Given the description of an element on the screen output the (x, y) to click on. 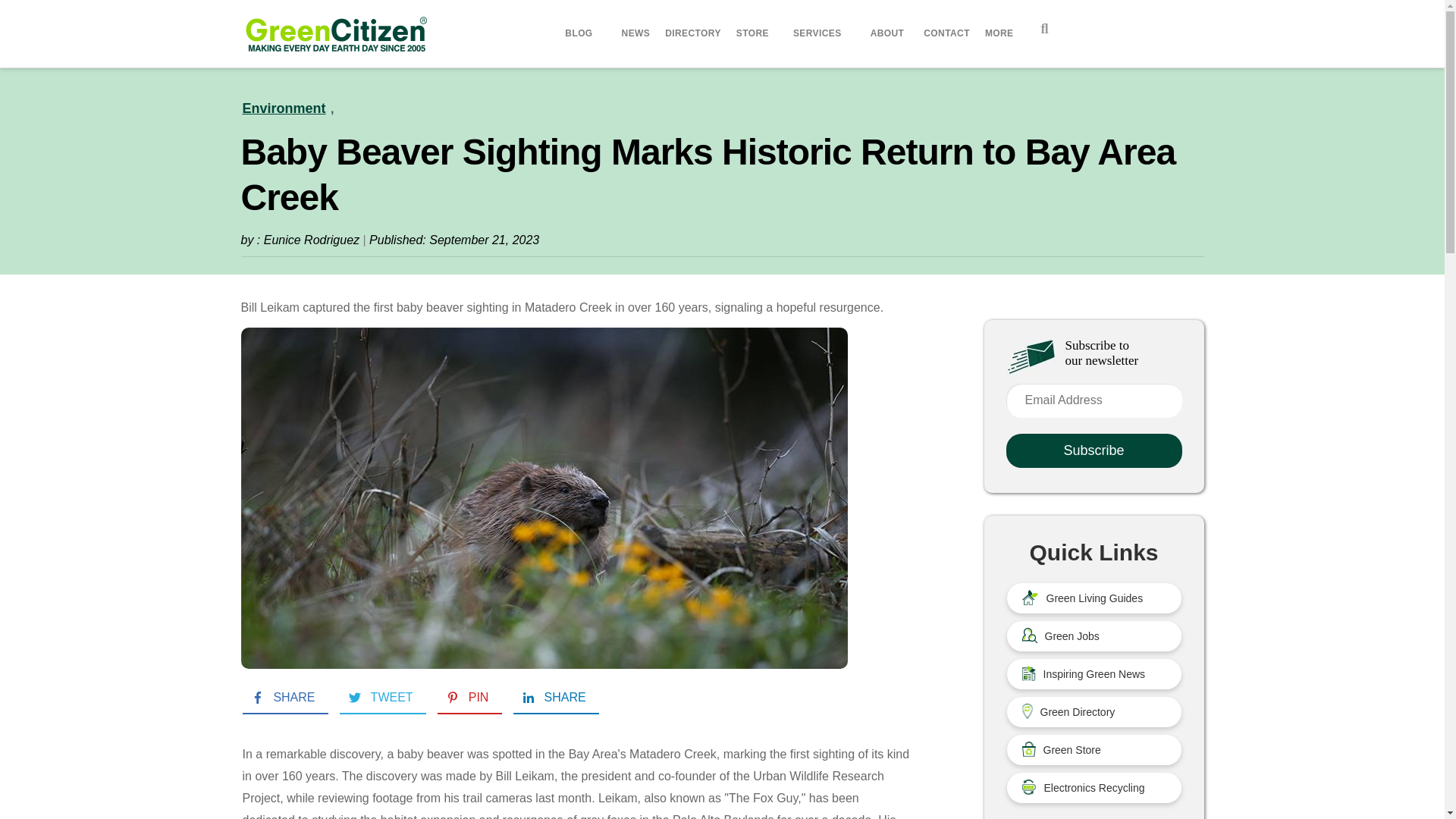
NEWS (635, 32)
BLOG (580, 33)
DIRECTORY (692, 32)
STORE (752, 32)
Subscribe (1093, 450)
ABOUT (889, 32)
MORE (1001, 32)
SERVICES (820, 33)
CONTACT (946, 32)
